Given the description of an element on the screen output the (x, y) to click on. 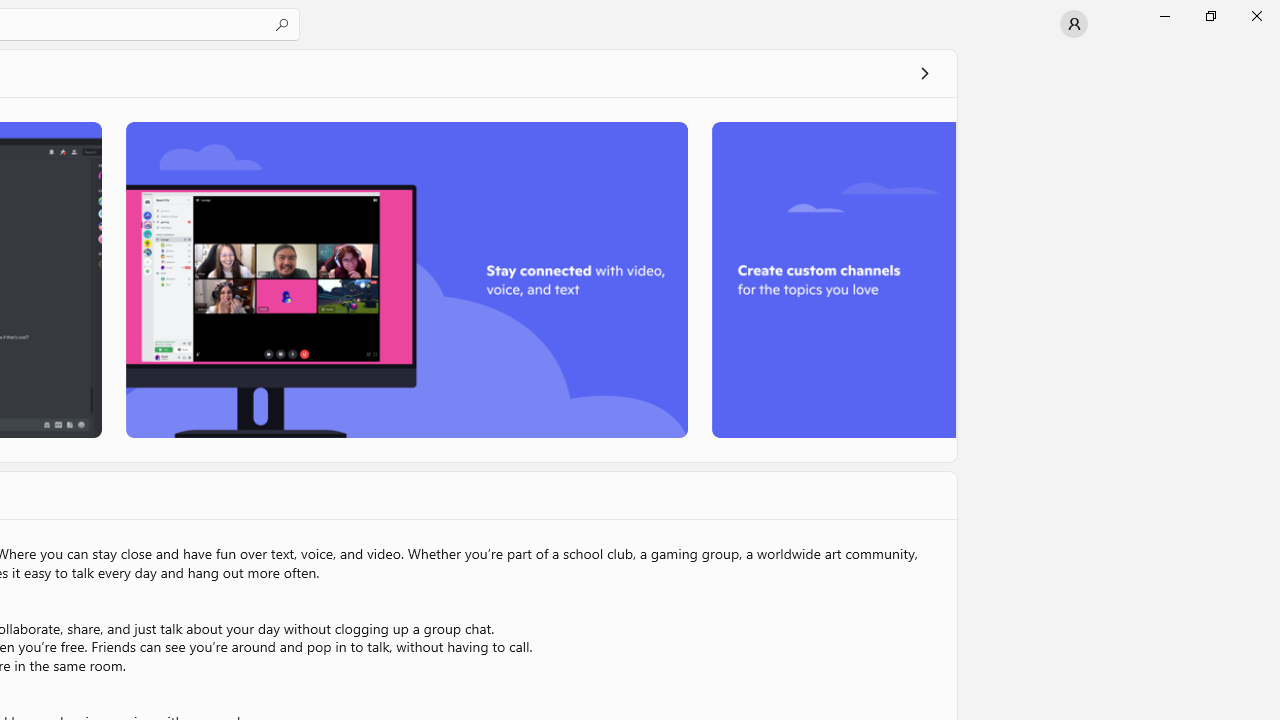
See all (924, 72)
Minimize Microsoft Store (1164, 15)
User profile (1073, 24)
Restore Microsoft Store (1210, 15)
Close Microsoft Store (1256, 15)
Screenshot 3 (833, 279)
Screenshot 2 (406, 279)
